Given the description of an element on the screen output the (x, y) to click on. 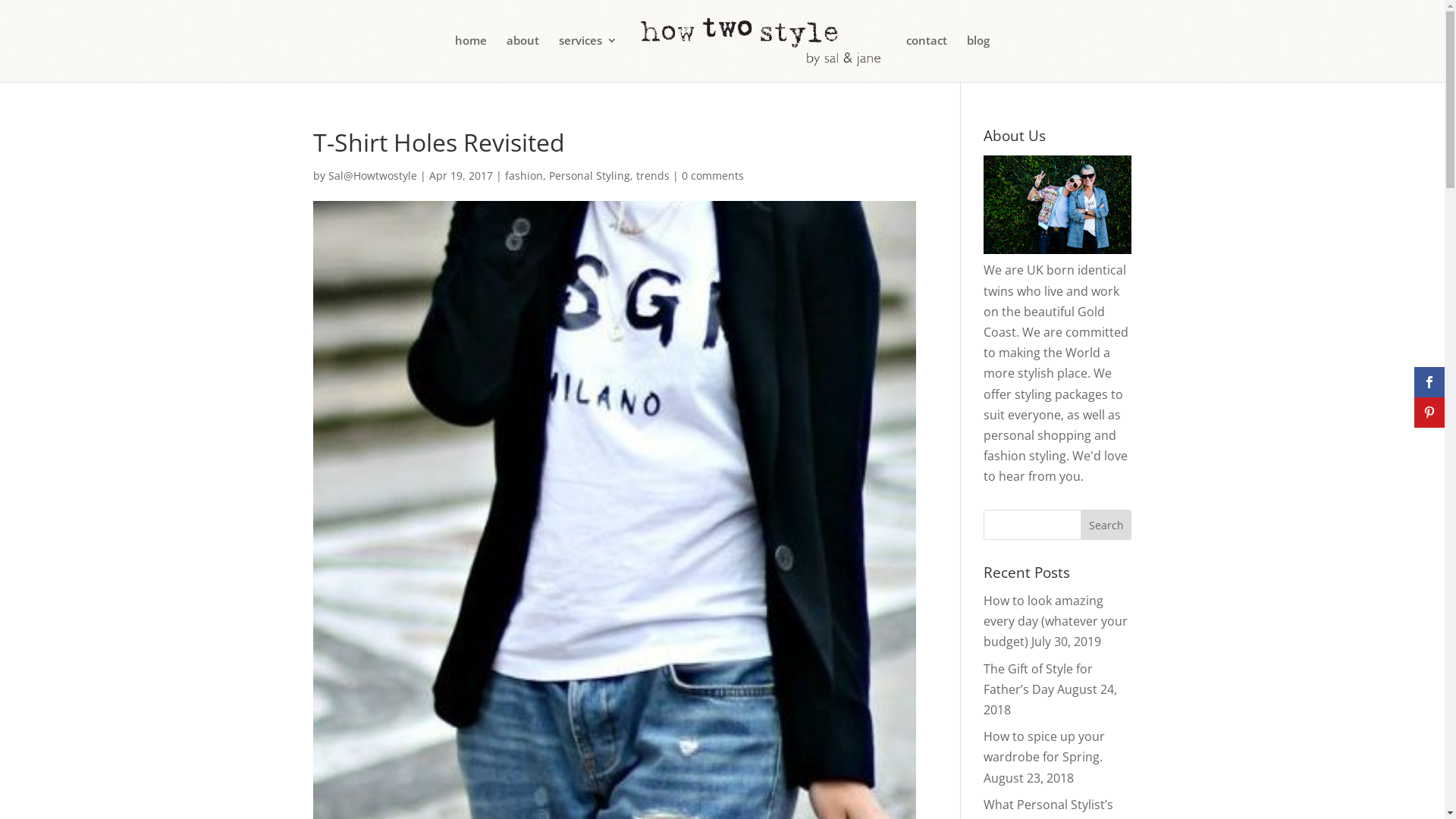
trends Element type: text (651, 175)
services Element type: text (587, 56)
contact Element type: text (926, 56)
0 comments Element type: text (711, 175)
blog Element type: text (977, 56)
home Element type: text (470, 56)
How to look amazing every day (whatever your budget) Element type: text (1055, 620)
Personal Styling Element type: text (589, 175)
Search Element type: text (1106, 524)
How to spice up your wardrobe for Spring. Element type: text (1043, 746)
fashion Element type: text (523, 175)
about Element type: text (522, 56)
Sal@Howtwostyle Element type: text (371, 175)
